Given the description of an element on the screen output the (x, y) to click on. 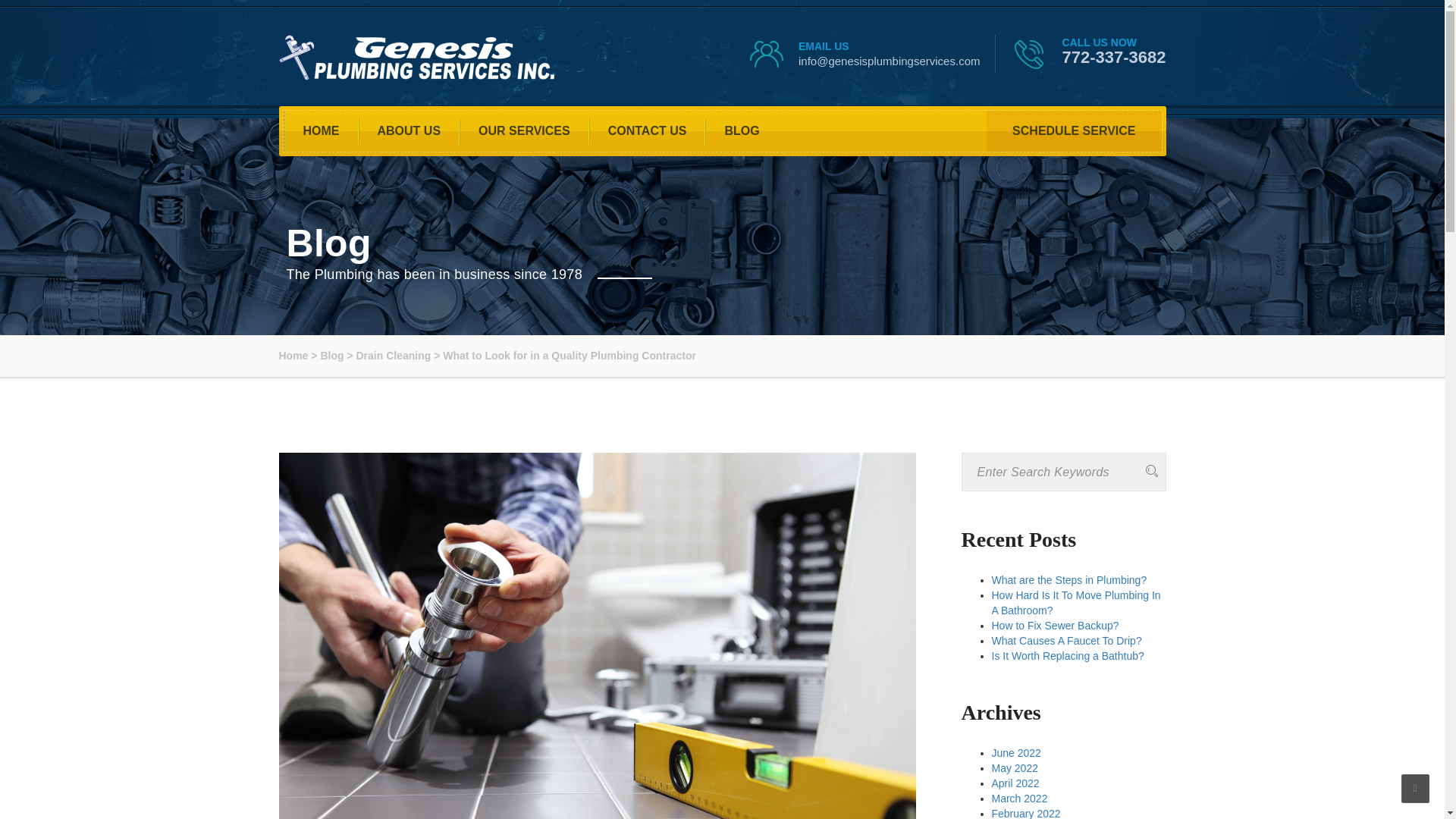
Go to Home. (293, 355)
Drain Cleaning (392, 355)
How to Fix Sewer Backup? (1055, 625)
SCHEDULE SERVICE (1073, 130)
Go to Blog. (331, 355)
ABOUT US (409, 130)
How Hard Is It To Move Plumbing In A Bathroom? (1075, 602)
BLOG (740, 130)
Blog (331, 355)
Go to the Drain Cleaning Category archives. (392, 355)
